Given the description of an element on the screen output the (x, y) to click on. 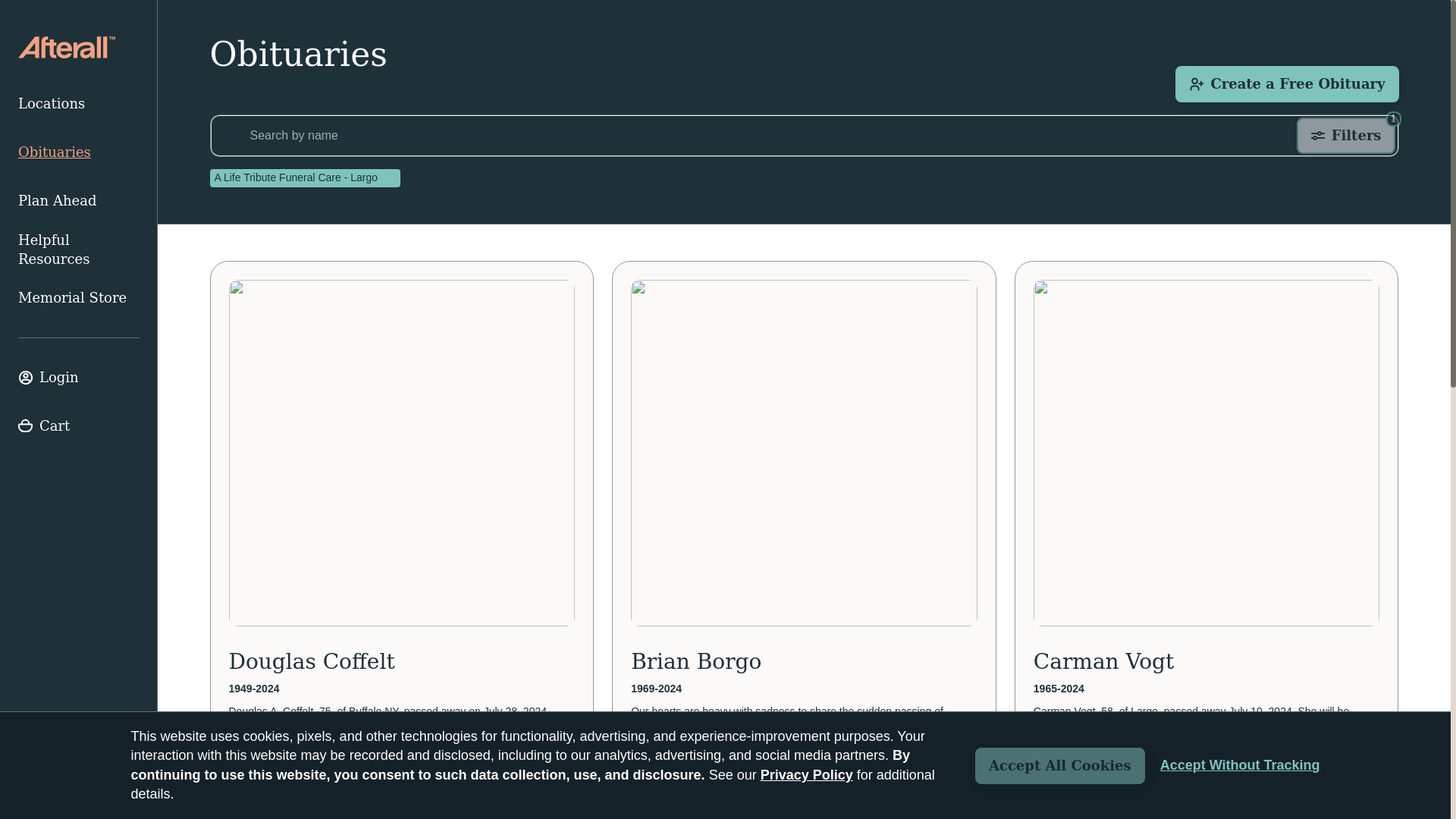
Cart (78, 426)
Locations (78, 103)
Home page (66, 47)
Login (1345, 135)
Obituaries (78, 377)
Accept Without Tracking (78, 151)
Sign In (1240, 765)
Helpful Resources (78, 377)
Create a Free Obituary (78, 249)
